Given the description of an element on the screen output the (x, y) to click on. 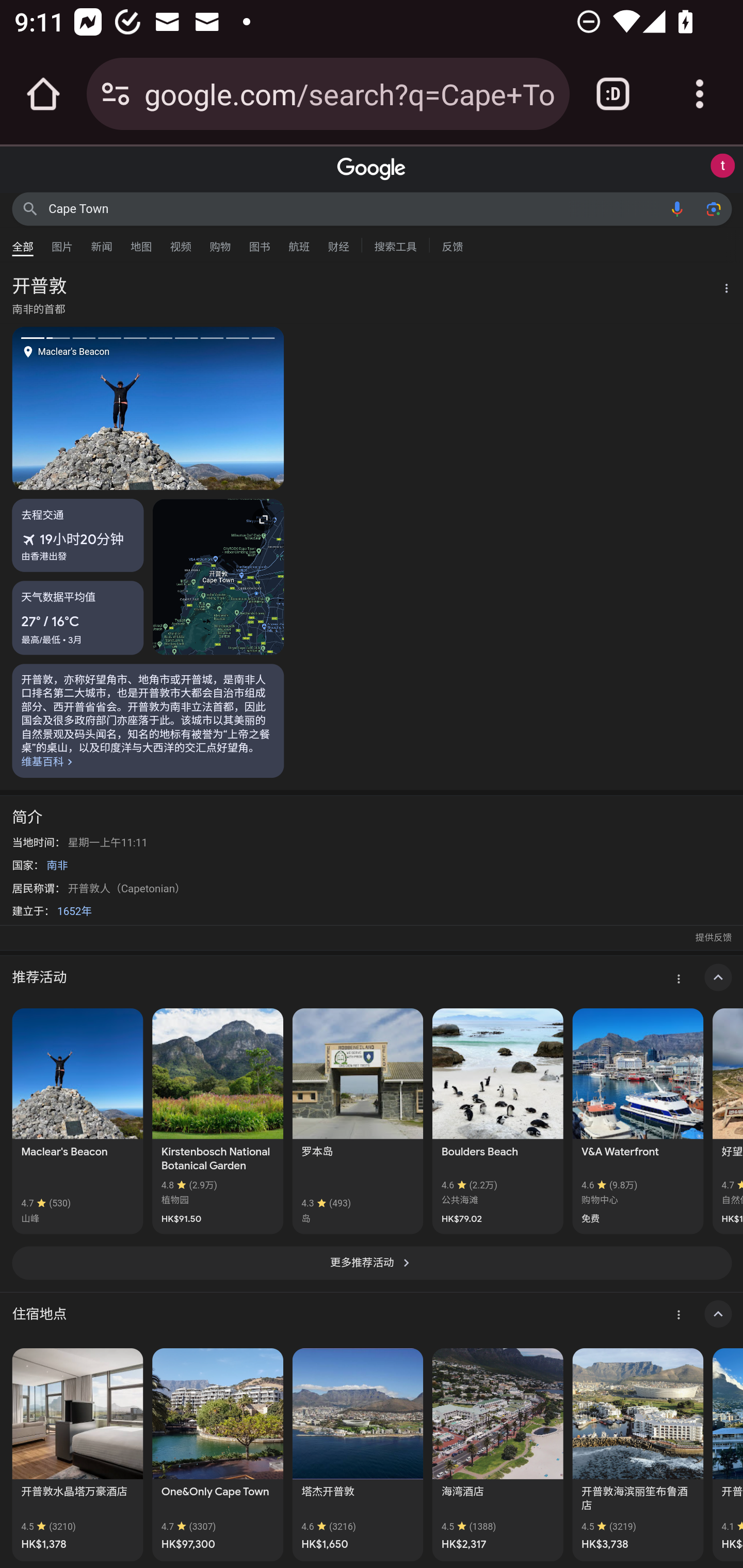
Open the home page (43, 93)
Connection is secure (115, 93)
Switch or close tabs (612, 93)
Customize and control Google Chrome (699, 93)
Google (371, 169)
Google 账号： test appium (testappium002@gmail.com) (722, 165)
Google 搜索 (29, 208)
使用拍照功能或照片进行搜索 (712, 208)
Cape Town (353, 208)
图片 (62, 241)
新闻 (101, 241)
地图 (141, 241)
视频 (180, 241)
购物 (219, 241)
图书 (259, 241)
航班 (299, 241)
财经 (338, 241)
搜索工具 (395, 244)
反馈 (452, 244)
更多选项 (720, 289)
去程交通 19小时20分钟 乘坐飞机 由香港出發 (77, 535)
展开地图 (217, 576)
天气数据平均值 27° / 16°C 最高/最低 • 3月 (77, 617)
%E9%96%8B%E6%99%AE%E6%95%A6 (147, 720)
南非 (57, 865)
1652年 (74, 910)
提供反馈 (713, 937)
推荐活动 … 开普敦的推荐活动 (371, 977)
Maclear's Beacon 评分为 4.7 星（最高 5 星）， (530) 山峰 (77, 1121)
罗本岛 评分为 4.3 星（最高 5 星）， (493) 岛 (357, 1121)
V&A Waterfront 评分为 4.6 星（最高 5 星）， (9.8万) 购物中心 免费 (637, 1121)
更多推荐活动 (371, 1262)
住宿地点 … 开普敦的酒店 (371, 1313)
开普敦水晶塔万豪酒店 4.5 评分为 4.5 星（最高 5 星）， (3210) HK$1,378 (77, 1453)
塔杰开普敦 4.6 评分为 4.6 星（最高 5 星）， (3216) HK$1,650 (357, 1453)
海湾酒店 4.5 评分为 4.5 星（最高 5 星）， (1388) HK$2,317 (497, 1453)
开普敦海滨丽笙布鲁酒店 4.5 评分为 4.5 星（最高 5 星）， (3219) HK$3,738 (637, 1453)
